Given the description of an element on the screen output the (x, y) to click on. 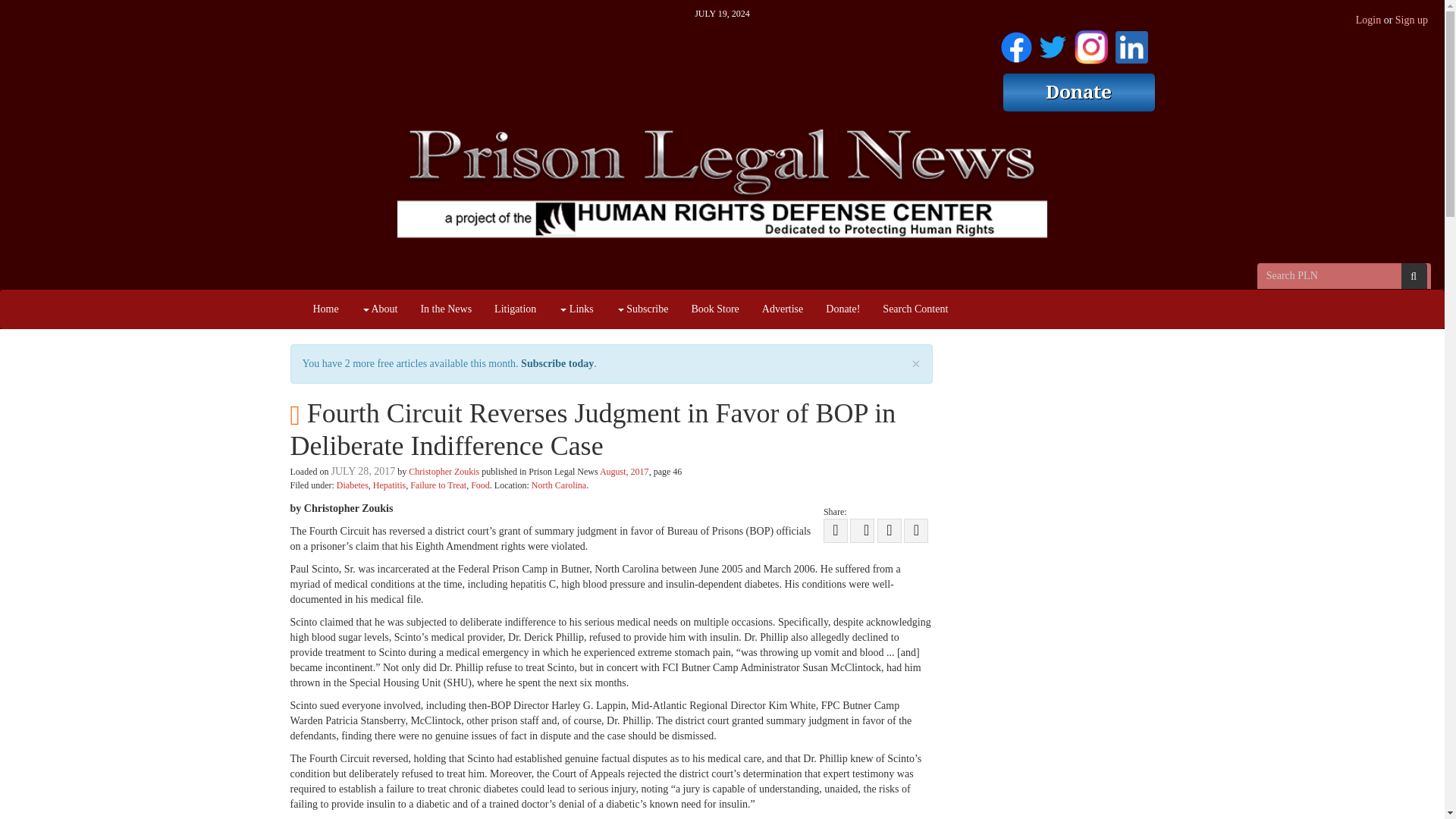
Search Content (914, 309)
Litigation (515, 309)
Links (575, 309)
August, 2017 (624, 471)
Book Store (714, 309)
Home (325, 309)
Subscribe today (557, 363)
Sign up (1411, 19)
Donate! (841, 309)
Prison Legal News FaceBook Page (1016, 44)
About (379, 309)
Paul Wright's LinkedIn Page (1131, 44)
Christopher Zoukis (444, 471)
Search (1413, 275)
Advertise (782, 309)
